Given the description of an element on the screen output the (x, y) to click on. 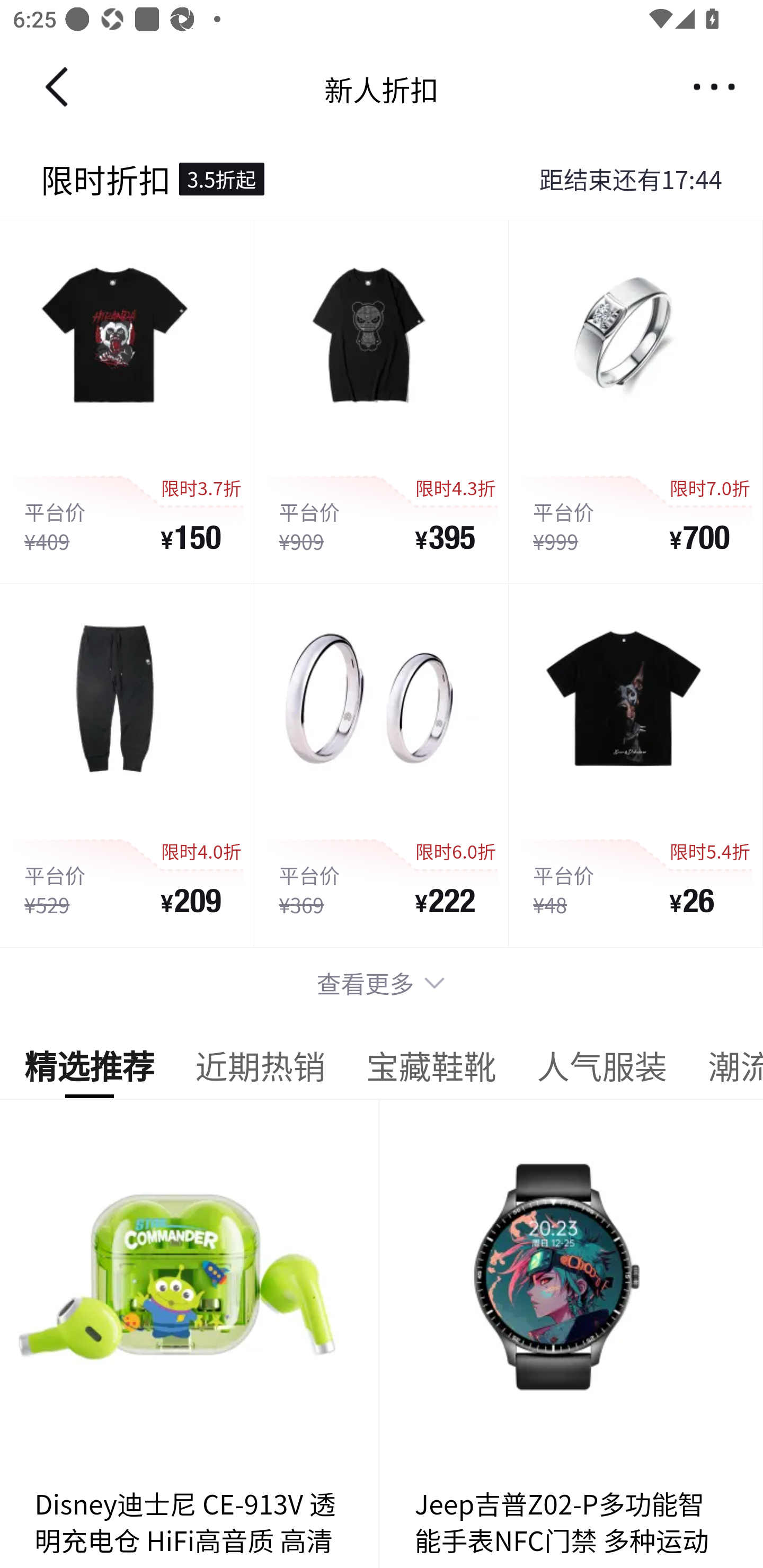
查看更多   7a6308c7-e67d-d593-fdc5-cca9685f7a7c-36-36 (381, 983)
精选推荐   (89, 1070)
近期热销 (259, 1070)
宝藏鞋靴 (431, 1070)
人气服装 (601, 1070)
